Given the description of an element on the screen output the (x, y) to click on. 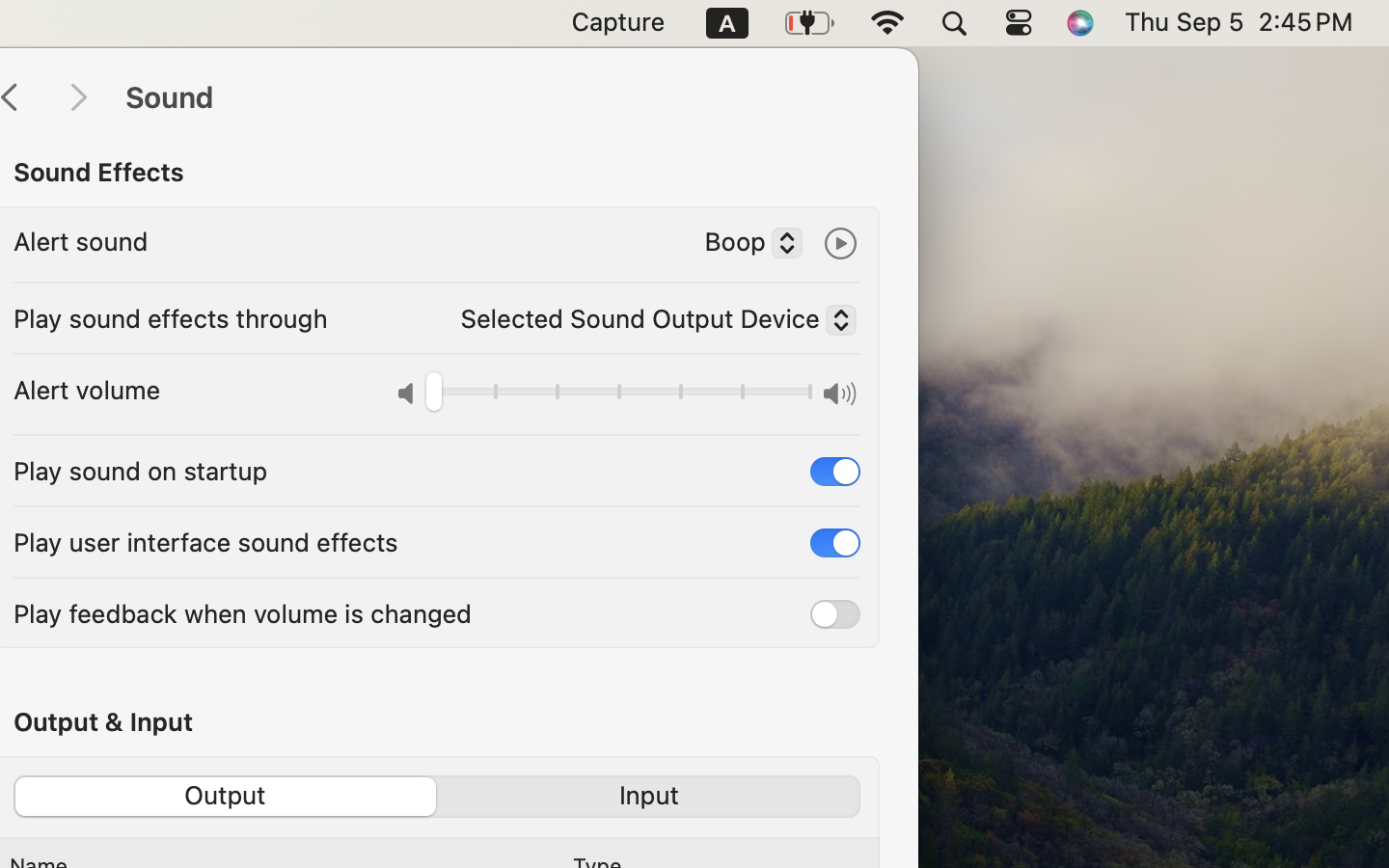
0.0 Element type: AXSlider (619, 395)
Alert sound Element type: AXStaticText (80, 240)
<AXUIElement 0x126c10c50> {pid=2664} Element type: AXTabGroup (436, 796)
1 Element type: AXCheckBox (835, 471)
